Given the description of an element on the screen output the (x, y) to click on. 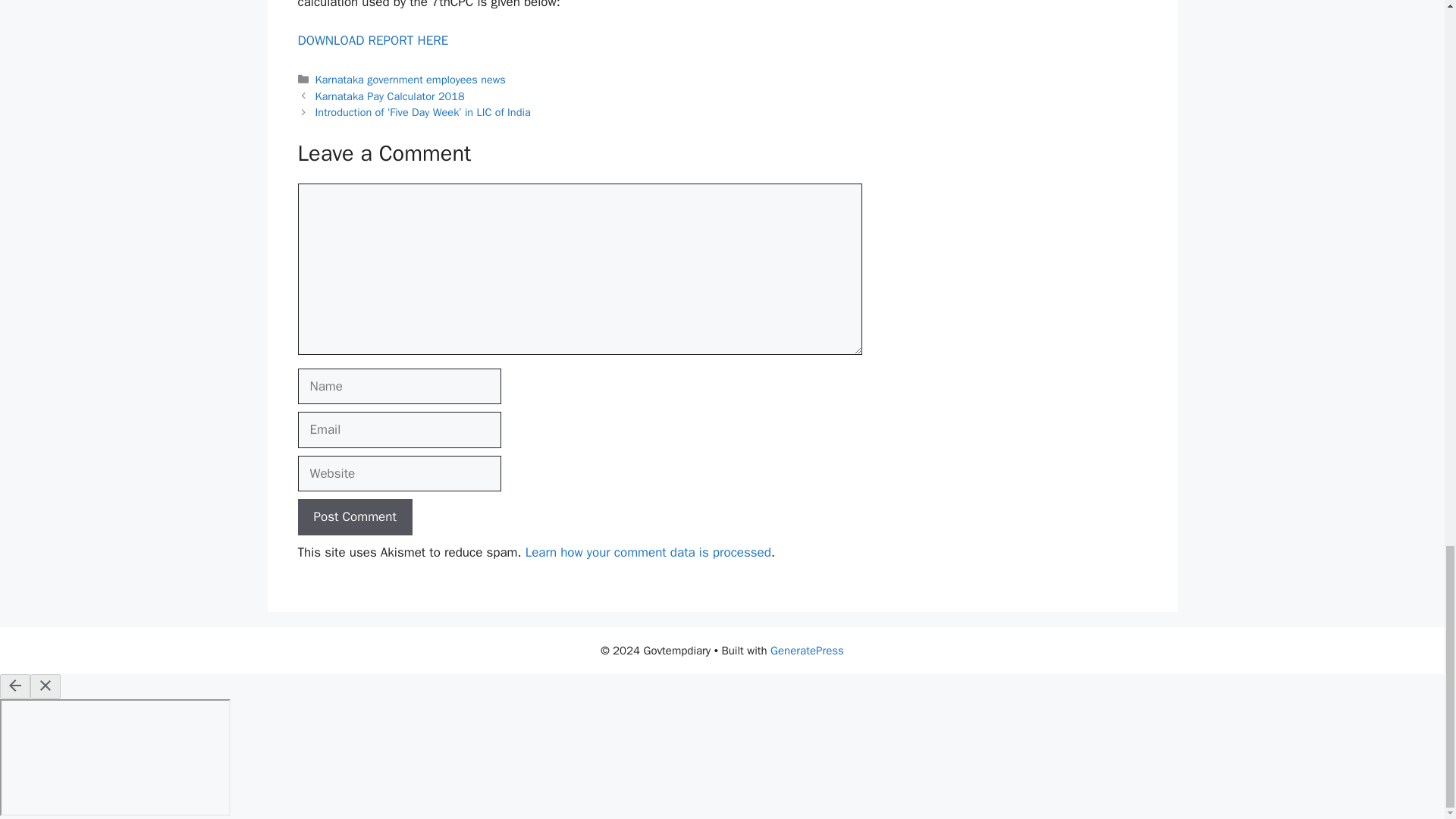
Page 202 (579, 25)
Post Comment (354, 516)
Page 201 (579, 25)
DOWNLOAD REPORT HERE (372, 40)
Learn how your comment data is processed (648, 552)
Karnataka Pay Calculator 2018 (389, 96)
Post Comment (354, 516)
Karnataka government employees news (410, 79)
